Given the description of an element on the screen output the (x, y) to click on. 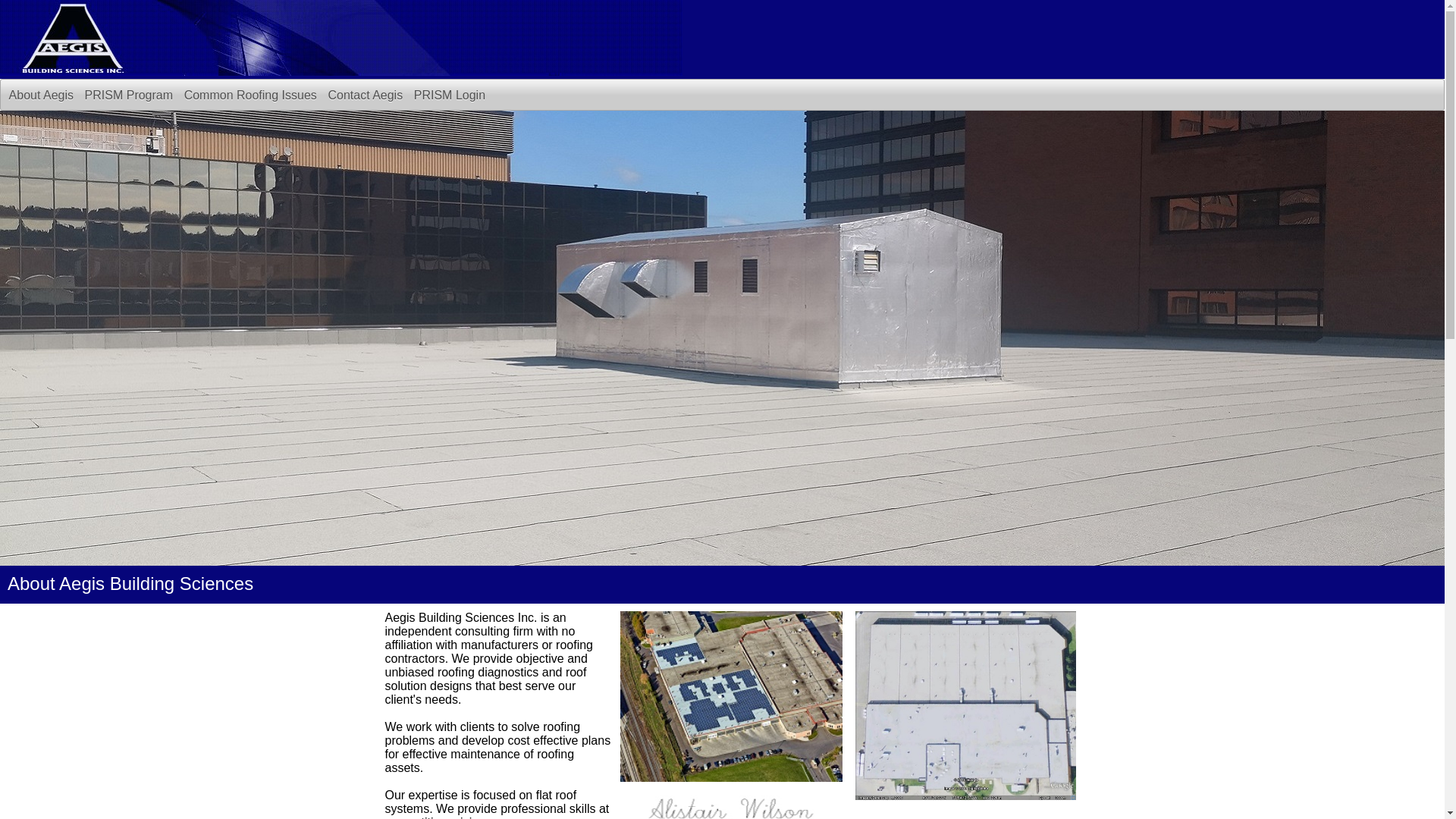
About Aegis Element type: text (41, 95)
PRISM Program Element type: text (128, 95)
Contact Aegis Element type: text (365, 95)
Common Roofing Issues Element type: text (250, 95)
PRISM Login Element type: text (449, 95)
